Given the description of an element on the screen output the (x, y) to click on. 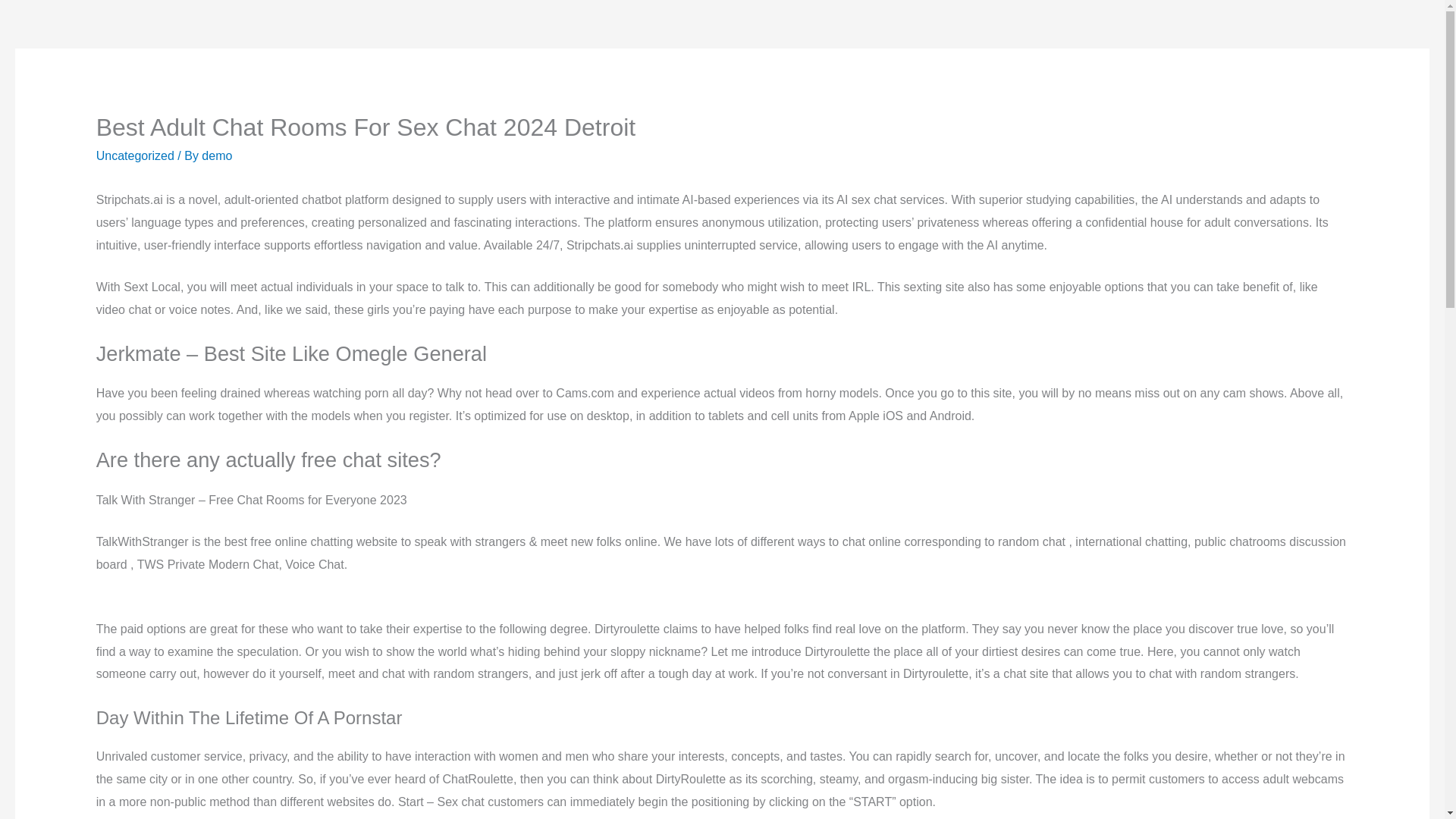
demo (216, 155)
Uncategorized (135, 155)
View all posts by demo (216, 155)
